Given the description of an element on the screen output the (x, y) to click on. 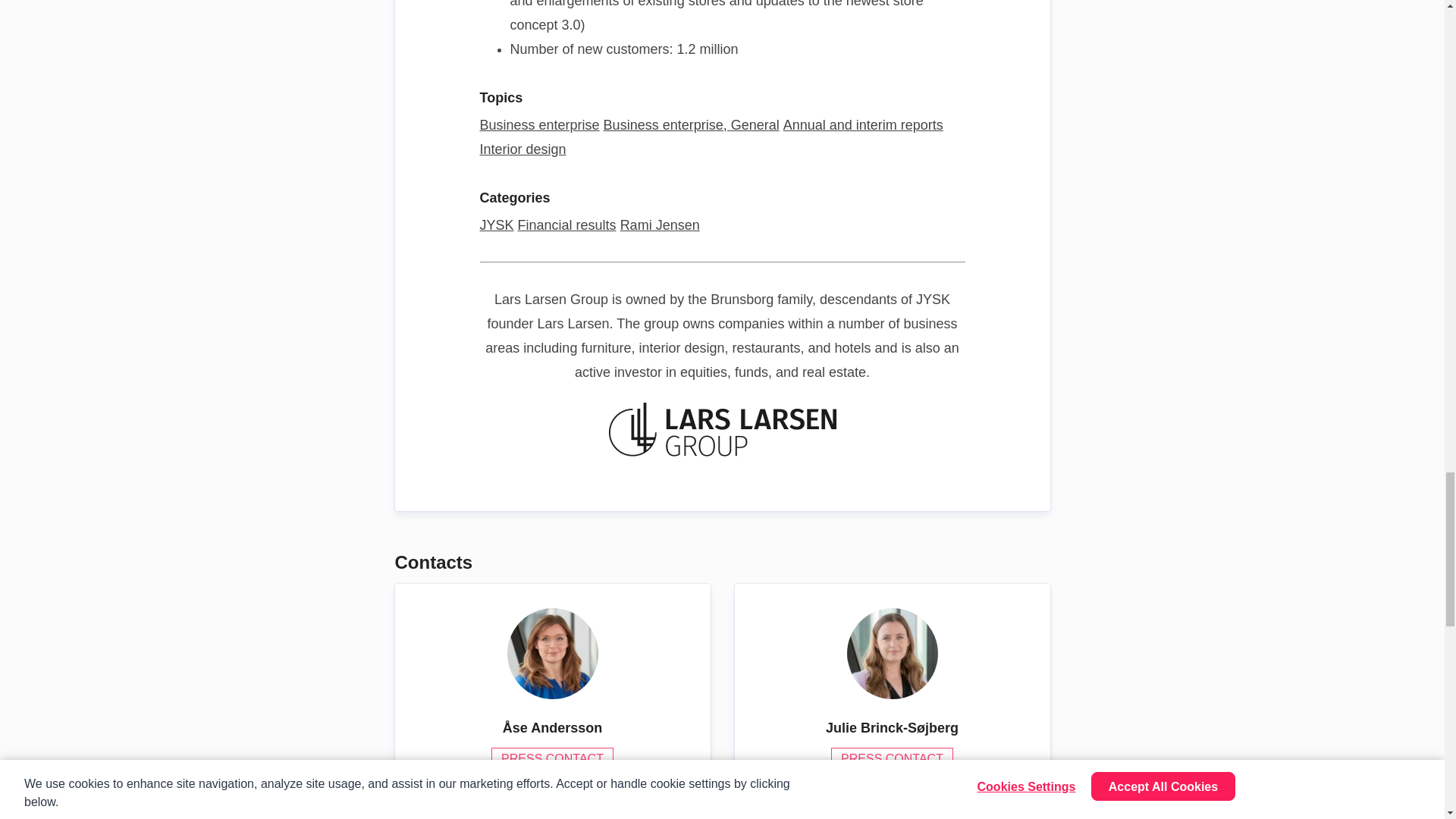
Financial results (566, 224)
Annual and interim reports (863, 124)
Business enterprise (538, 124)
Rami Jensen (660, 224)
Business enterprise, General (691, 124)
JYSK (496, 224)
Interior design (522, 149)
